Given the description of an element on the screen output the (x, y) to click on. 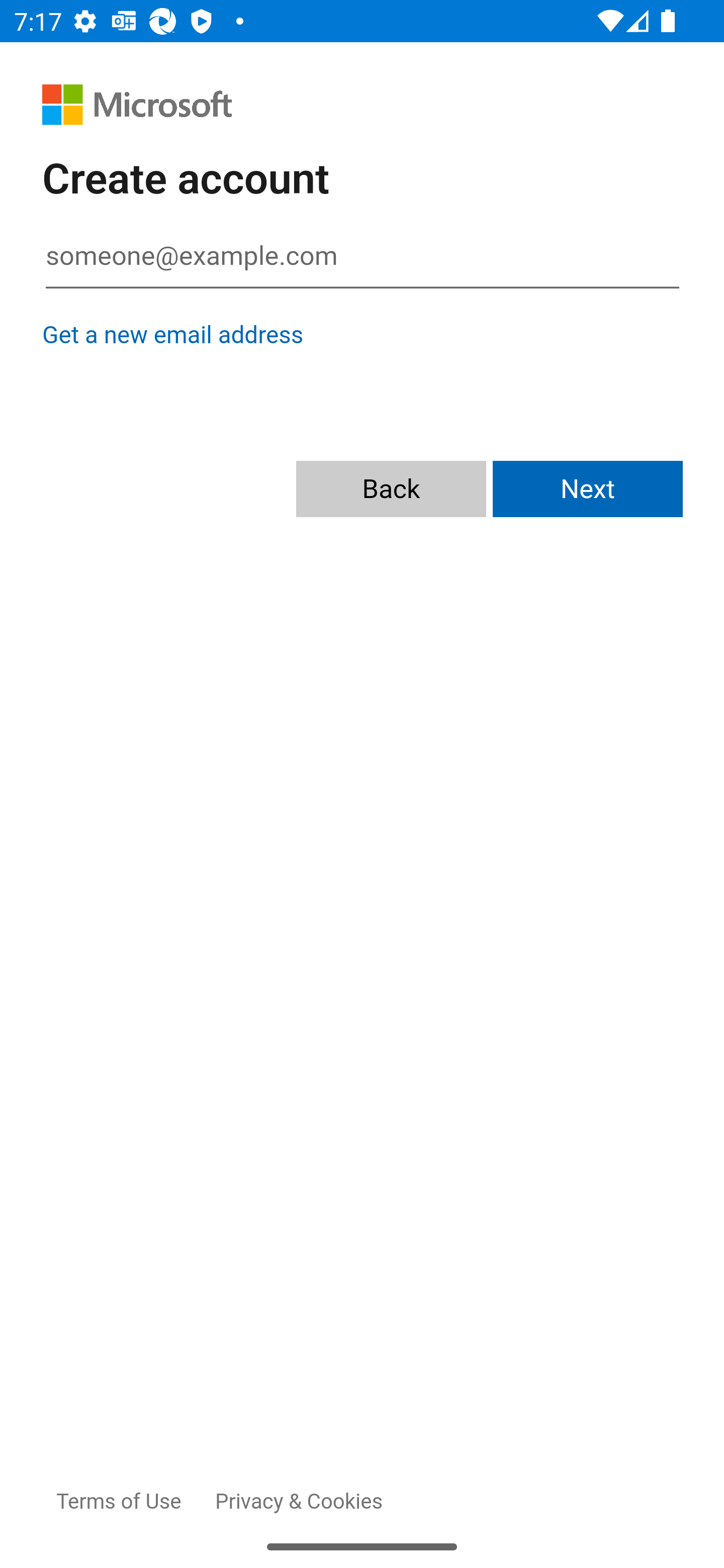
Navigate up (49, 91)
